Given the description of an element on the screen output the (x, y) to click on. 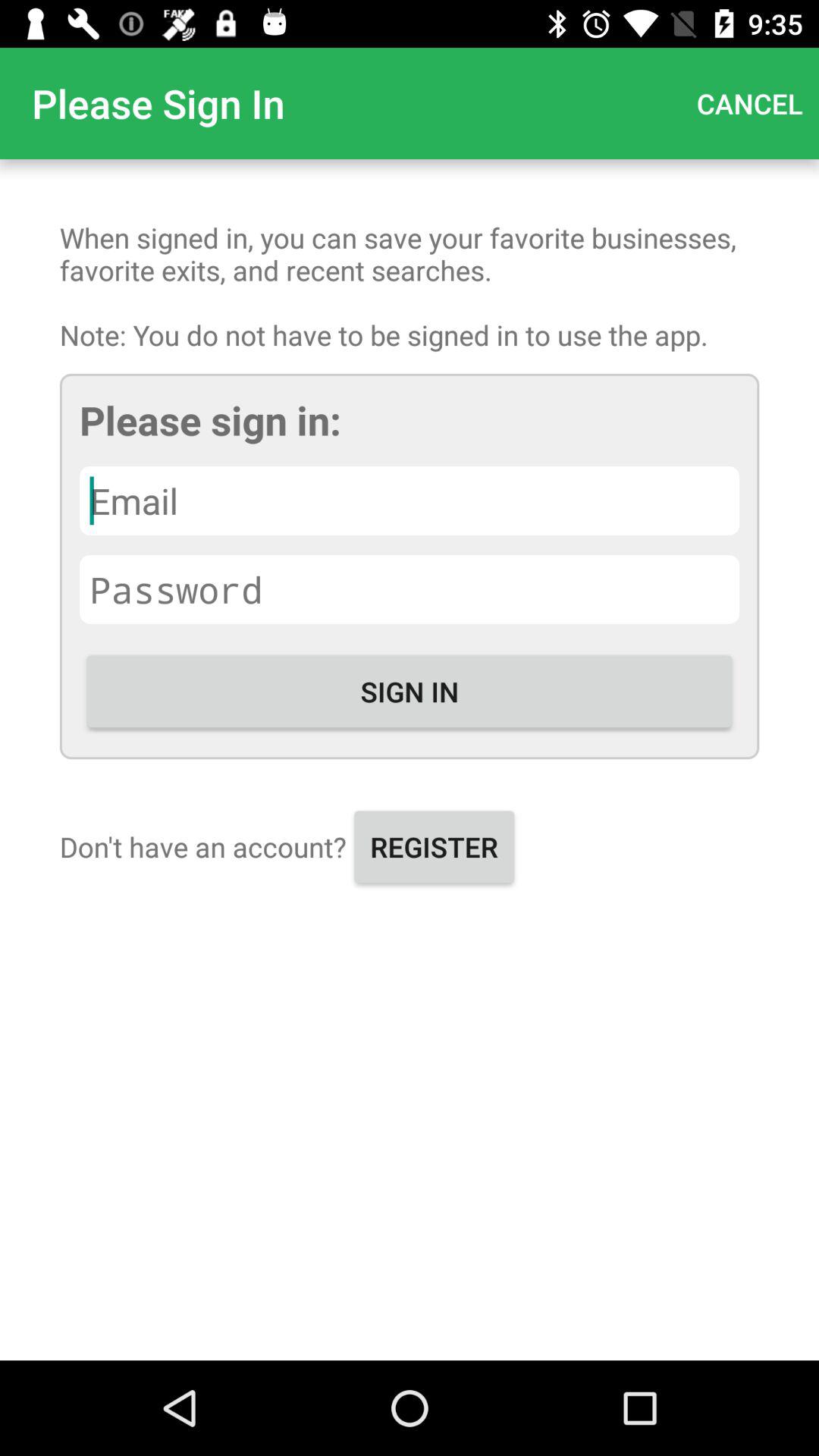
launch item next to the don t have item (434, 846)
